Given the description of an element on the screen output the (x, y) to click on. 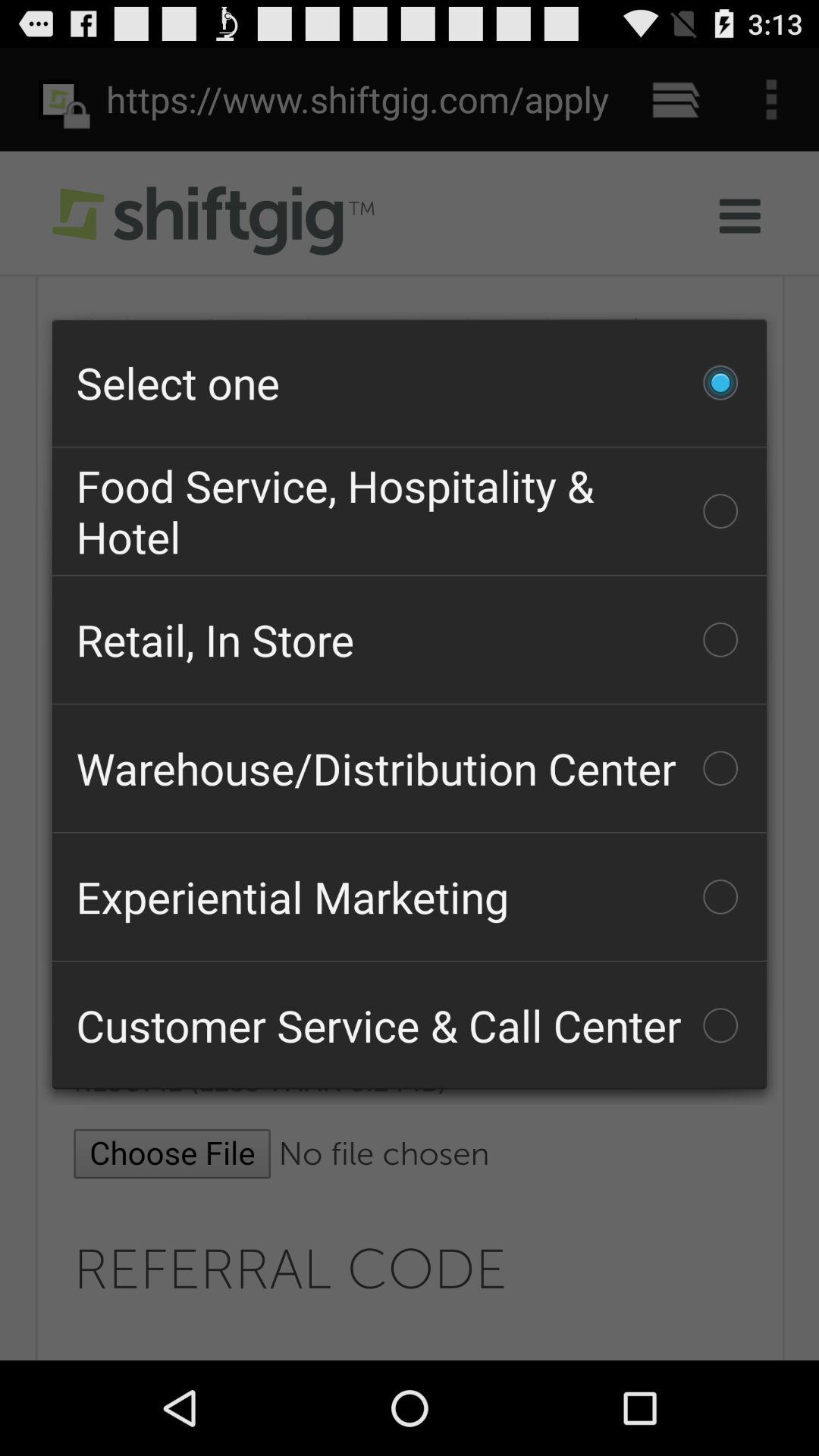
choose the retail, in store checkbox (409, 639)
